Given the description of an element on the screen output the (x, y) to click on. 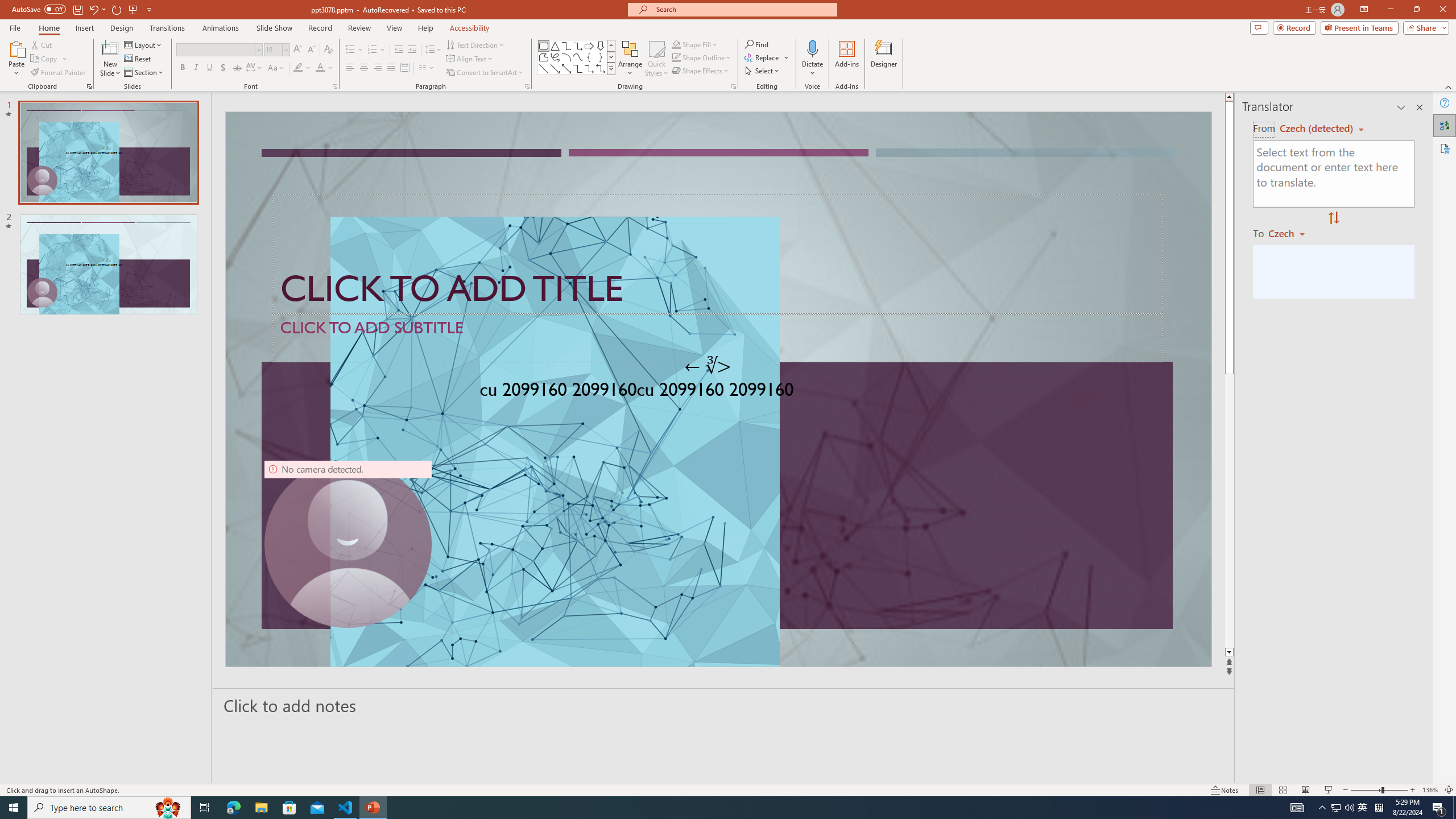
TextBox 61 (716, 391)
